Given the description of an element on the screen output the (x, y) to click on. 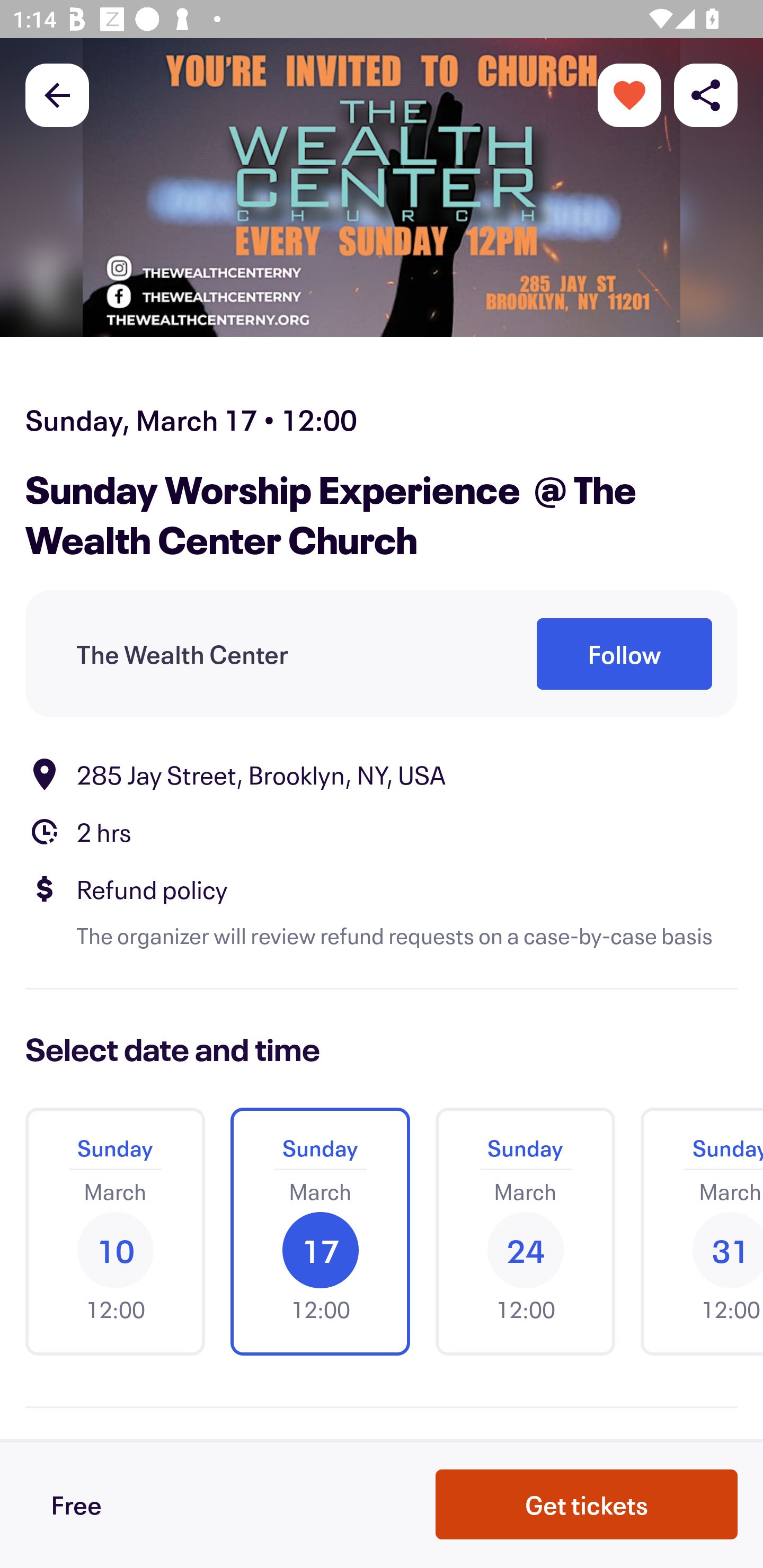
Back (57, 94)
More (629, 94)
Share (705, 94)
The Wealth Center (182, 654)
Follow (623, 654)
Location 285 Jay Street, Brooklyn, NY, USA (381, 774)
Sunday March 10 12:00 (114, 1231)
Sunday March 17 12:00 (319, 1231)
Sunday March 24 12:00 (524, 1231)
Sunday March 31 12:00 (695, 1231)
Get tickets (586, 1504)
